Given the description of an element on the screen output the (x, y) to click on. 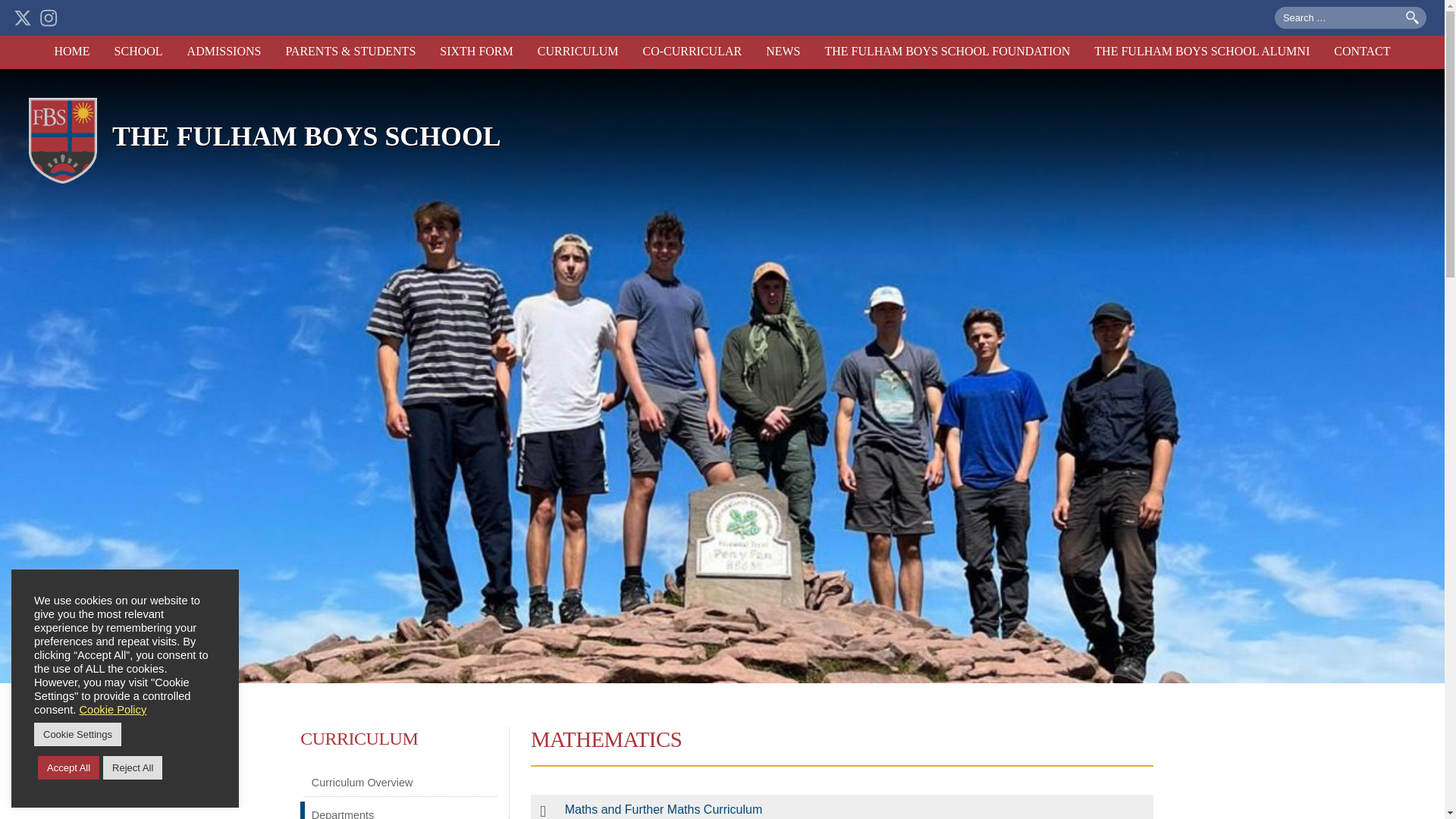
Instagram (48, 17)
Search (1413, 17)
ADMISSIONS (223, 52)
HOME (71, 52)
Twitter (22, 17)
Search (1413, 17)
SCHOOL (137, 52)
Search (1413, 17)
